Given the description of an element on the screen output the (x, y) to click on. 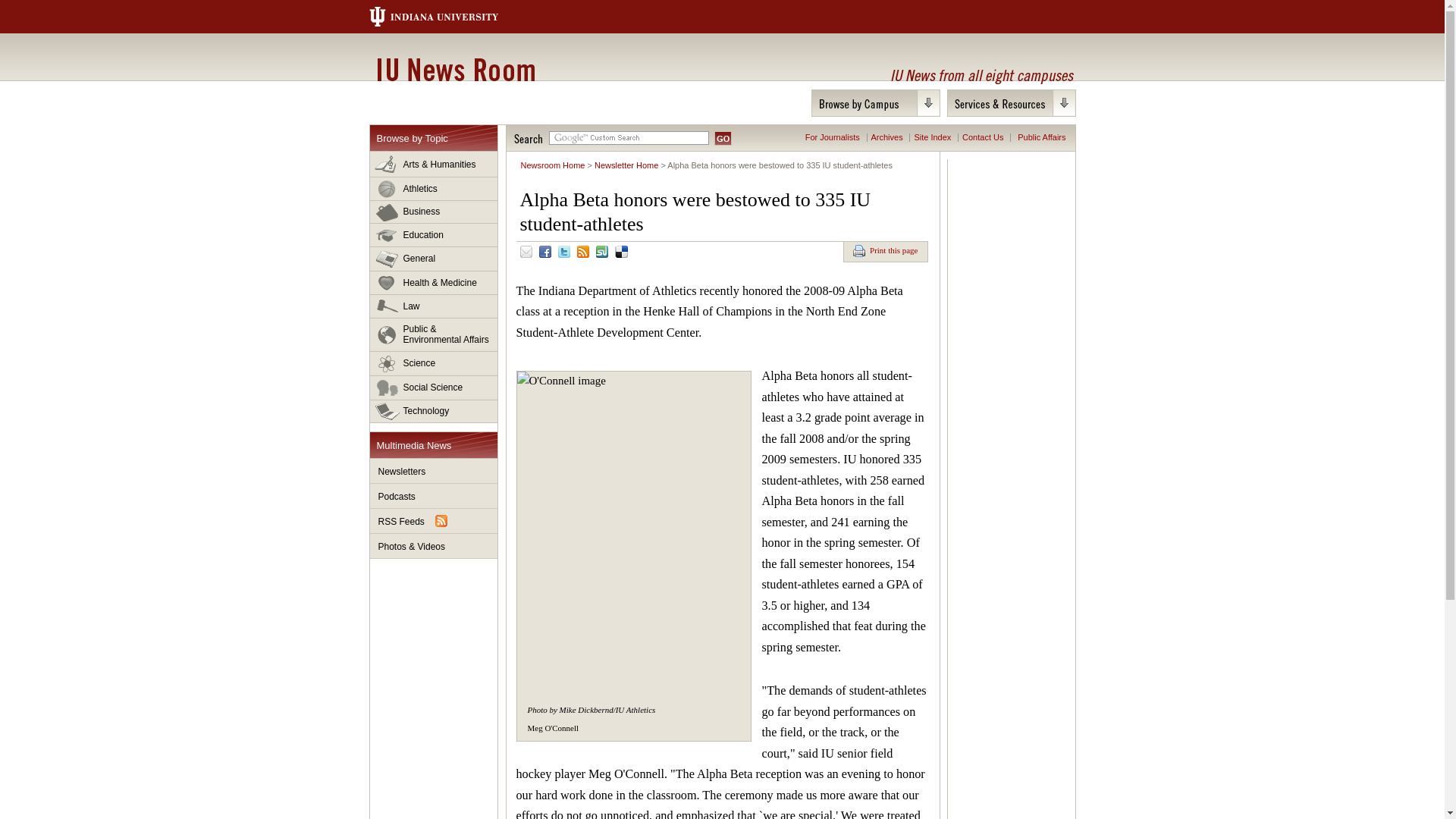
Podcasts (433, 496)
Newsletters (433, 471)
General (433, 259)
Athletics (433, 188)
Social Science (433, 387)
General (433, 259)
Athletics (433, 188)
IU News Room (455, 69)
Business (433, 211)
Education (433, 235)
